Given the description of an element on the screen output the (x, y) to click on. 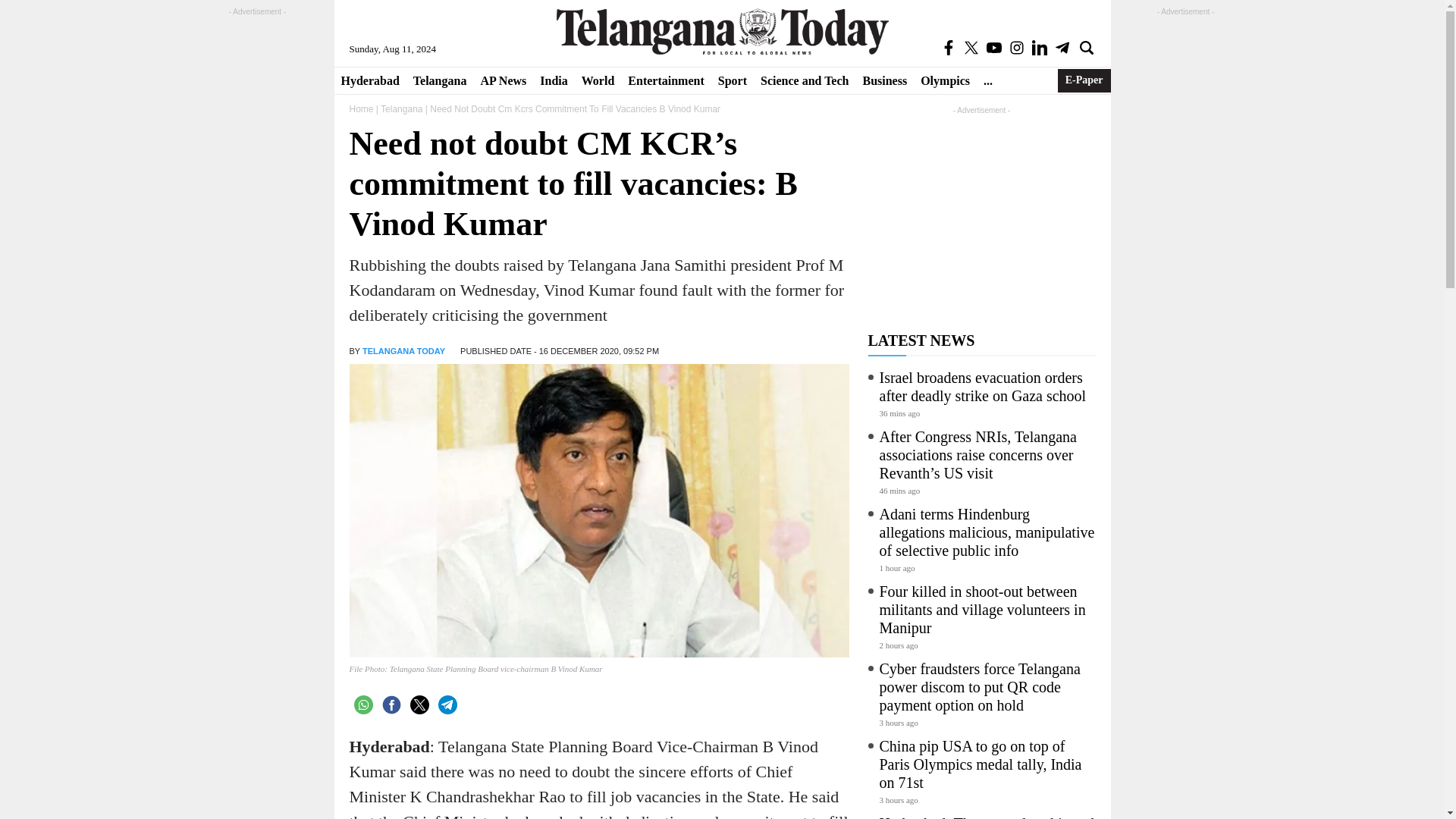
AP News (502, 80)
India (552, 80)
Entertainment (665, 80)
Entertainment (665, 80)
Science and Tech (805, 80)
Hyderabad (369, 80)
English News (722, 31)
... (987, 80)
World (598, 80)
India (552, 80)
